Given the description of an element on the screen output the (x, y) to click on. 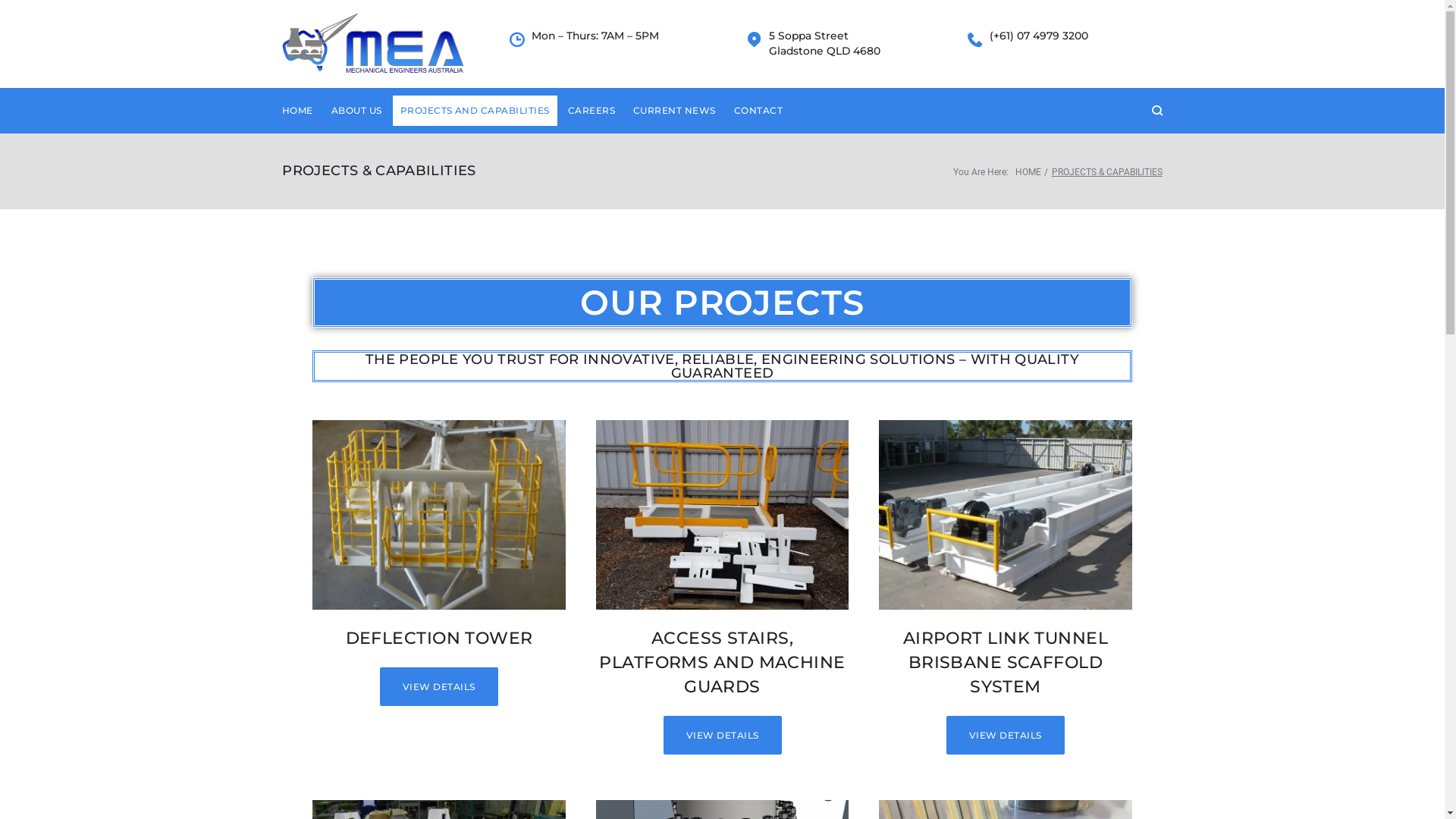
CONTACT Element type: text (758, 110)
DEFLECTION TOWER Element type: text (439, 637)
ABOUT US Element type: text (356, 110)
PROJECTS AND CAPABILITIES Element type: text (474, 110)
HOME Element type: text (297, 110)
CURRENT NEWS Element type: text (674, 110)
ACCESS STAIRS, PLATFORMS AND MACHINE GUARDS Element type: text (721, 661)
HOME Element type: text (1028, 171)
VIEW DETAILS Element type: text (438, 686)
VIEW DETAILS Element type: text (722, 734)
CAREERS Element type: text (591, 110)
AIRPORT LINK TUNNEL BRISBANE SCAFFOLD SYSTEM Element type: text (1005, 661)
VIEW DETAILS Element type: text (1005, 734)
